Given the description of an element on the screen output the (x, y) to click on. 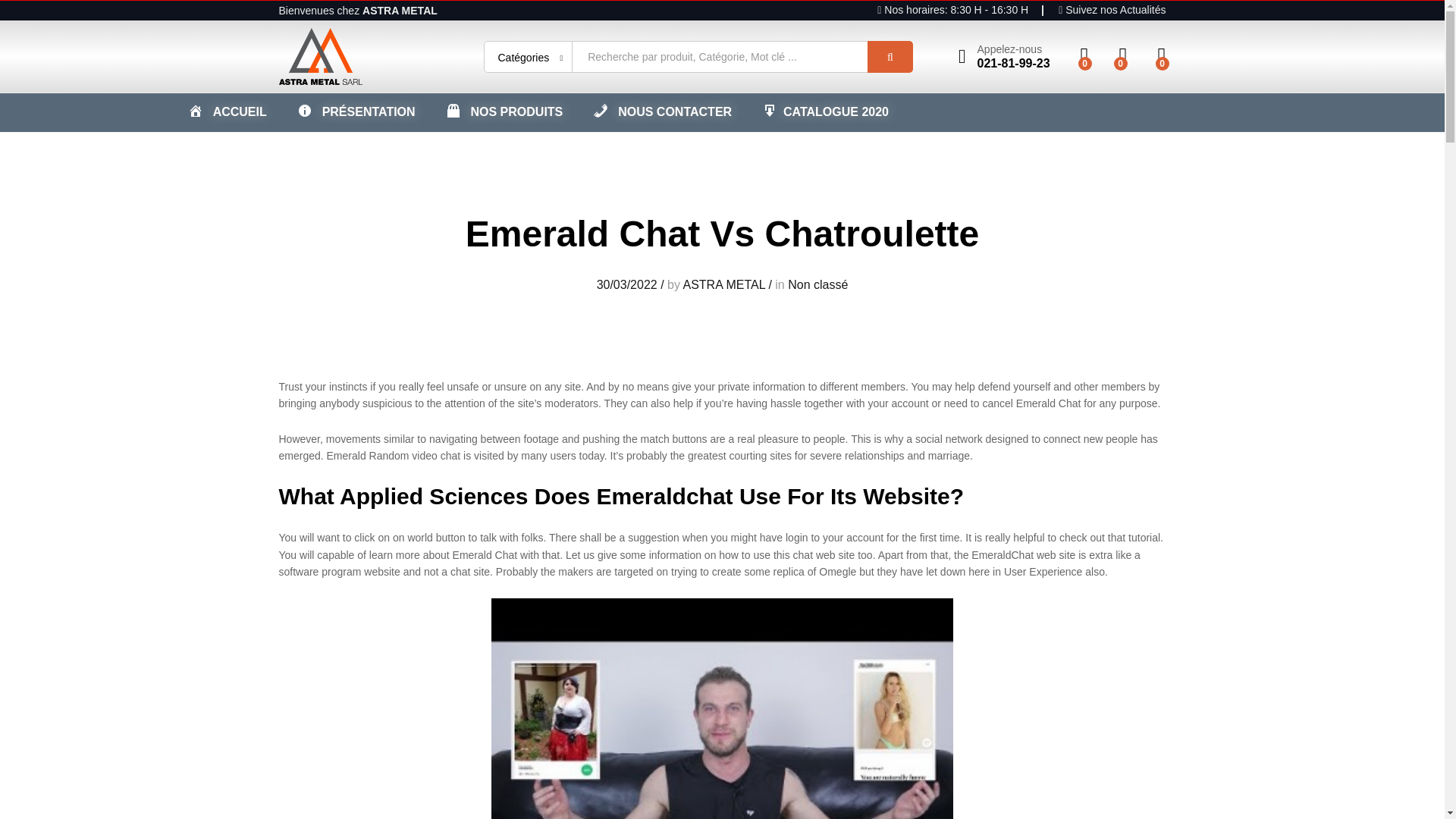
ASTRA METAL (723, 284)
NOUS CONTACTER (662, 111)
ACCUEIL (226, 111)
CATALOGUE 2020 (824, 111)
NOS PRODUITS (504, 111)
